Given the description of an element on the screen output the (x, y) to click on. 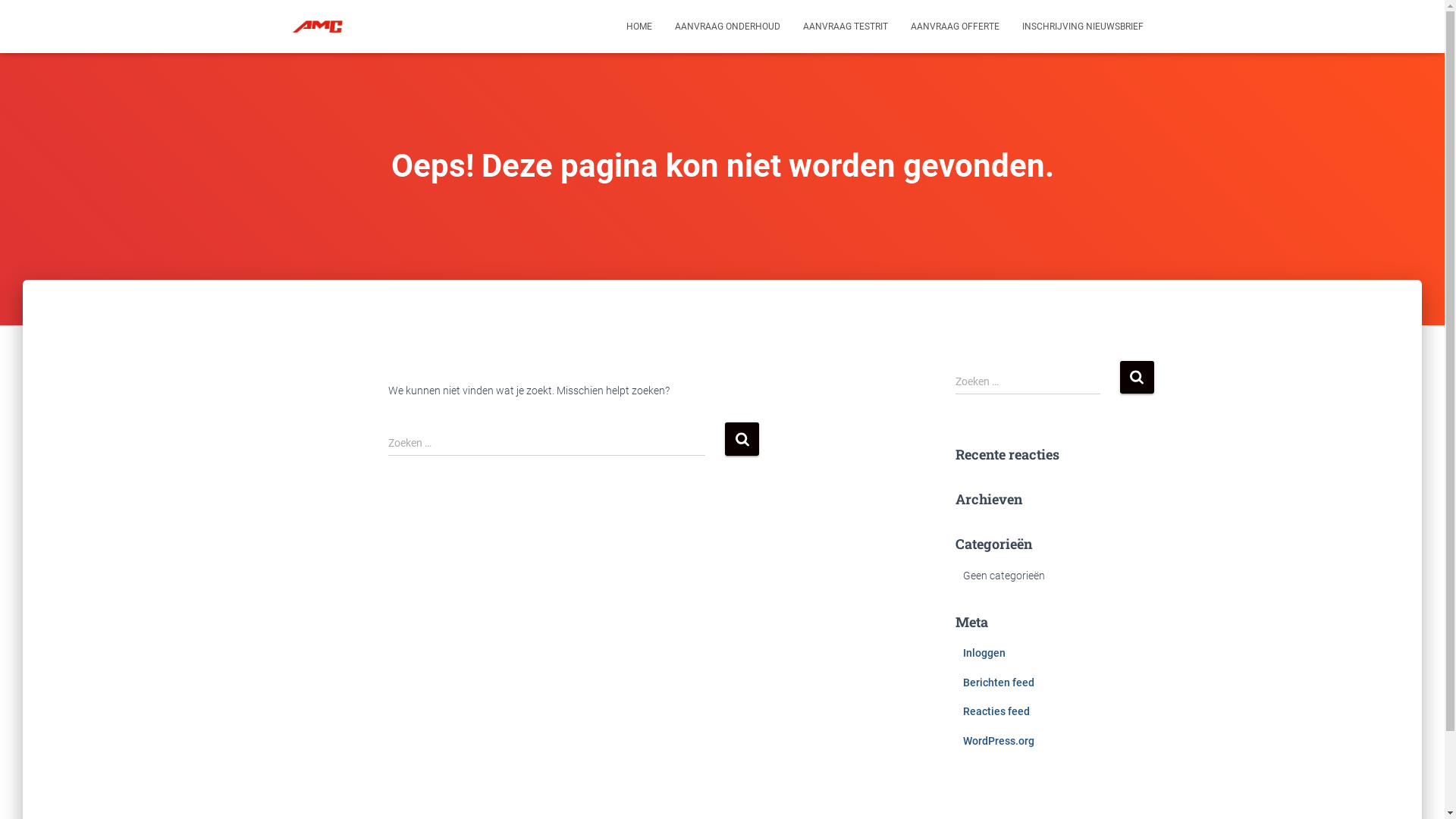
Reacties feed Element type: text (996, 711)
HOME Element type: text (638, 26)
Zoeken Element type: text (1136, 376)
Berichten feed Element type: text (998, 682)
INSCHRIJVING NIEUWSBRIEF Element type: text (1082, 26)
Antwerps Motor Center Element type: hover (318, 26)
Zoeken Element type: text (741, 438)
AANVRAAG OFFERTE Element type: text (954, 26)
AANVRAAG ONDERHOUD Element type: text (726, 26)
WordPress.org Element type: text (998, 740)
Inloggen Element type: text (984, 652)
AANVRAAG TESTRIT Element type: text (845, 26)
